Given the description of an element on the screen output the (x, y) to click on. 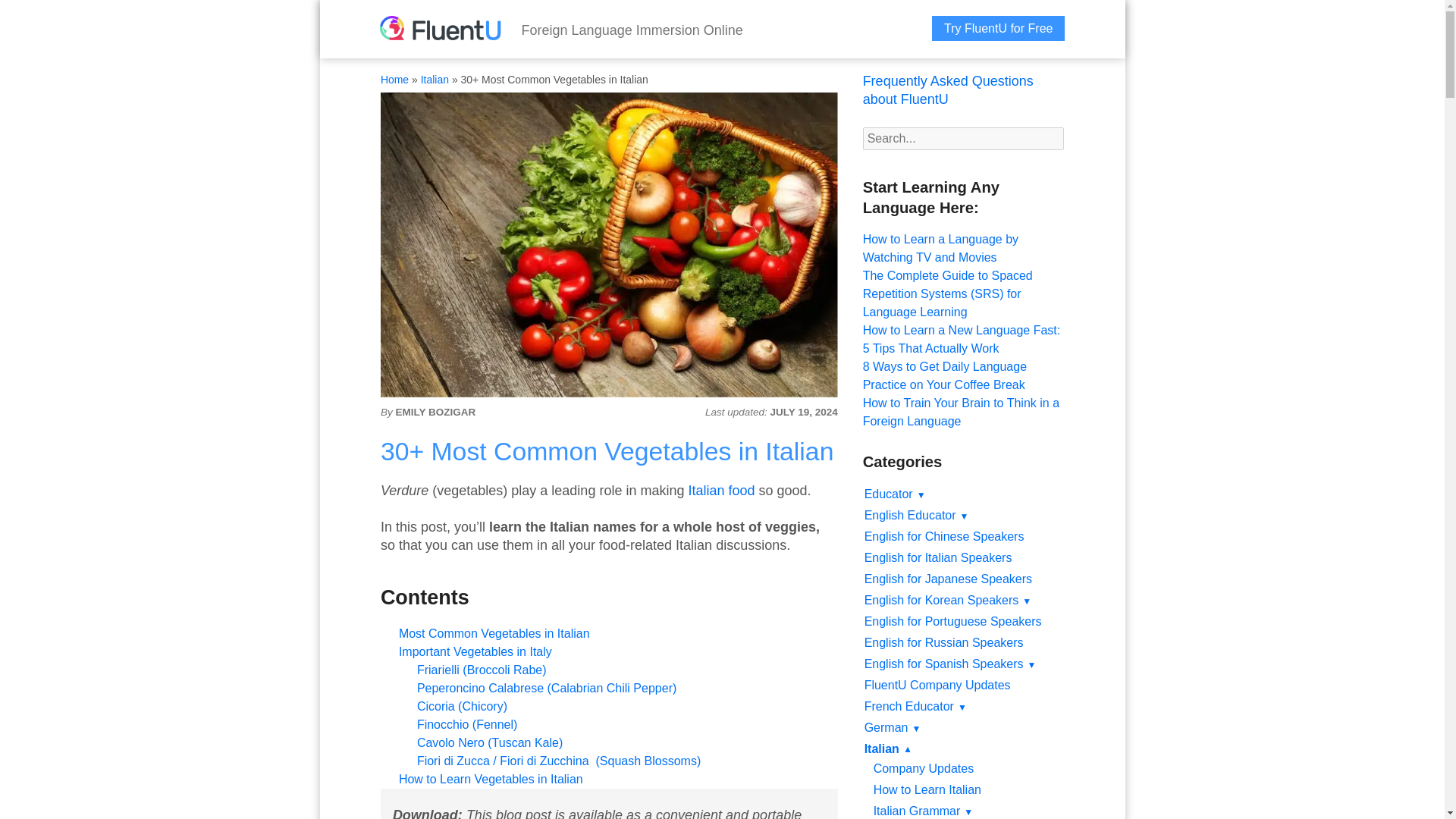
Foreign Language Immersion Online (631, 30)
Home (394, 79)
Most Common Vegetables in Italian (493, 633)
Important Vegetables in Italy (474, 651)
Try FluentU for Free (997, 27)
Italian (434, 79)
Italian food (720, 490)
How to Learn Vegetables in Italian (490, 779)
To homepage (440, 30)
EMILY BOZIGAR (435, 412)
